Given the description of an element on the screen output the (x, y) to click on. 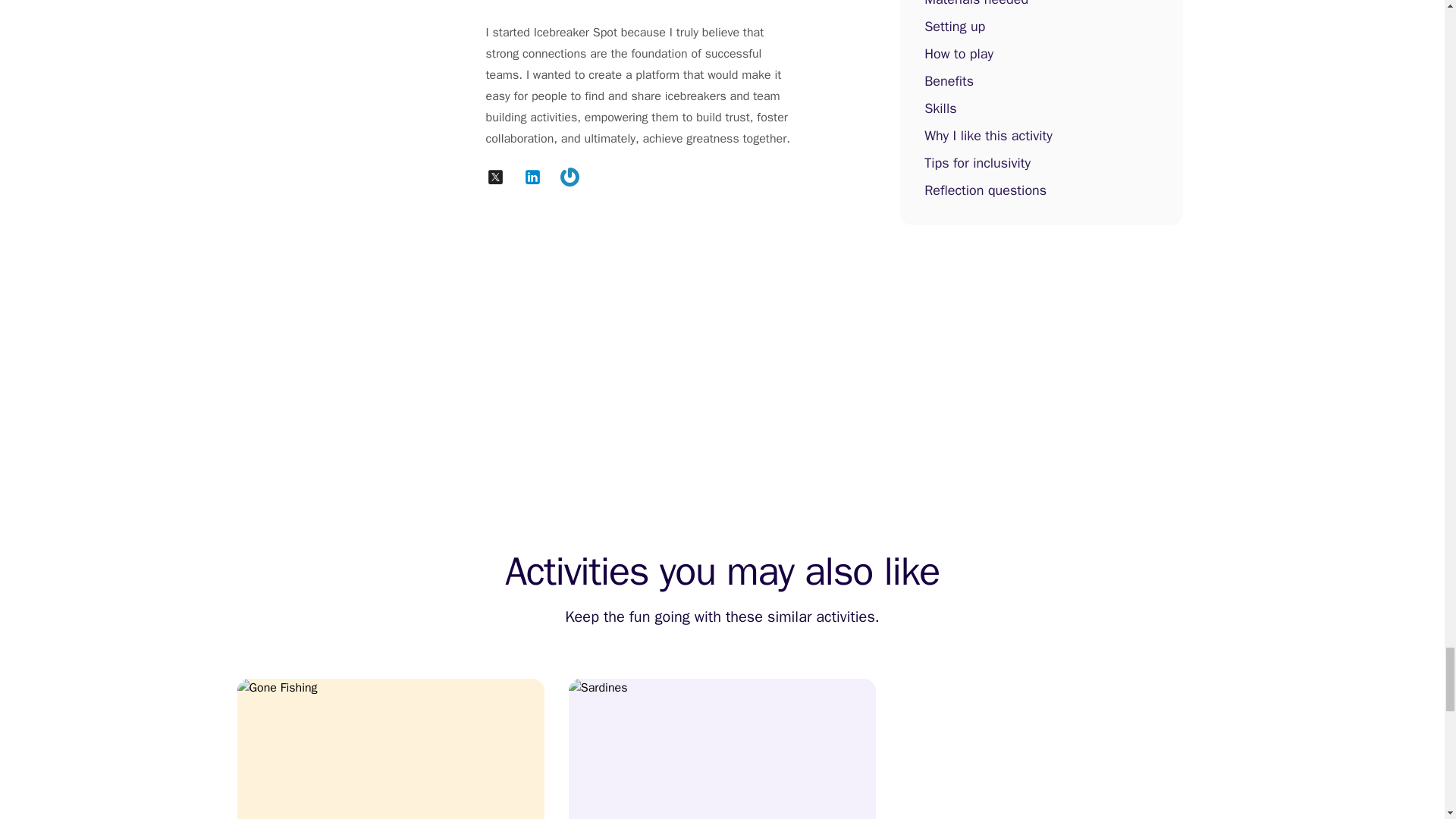
X (493, 176)
LinkedIn (531, 176)
Gravatar (568, 176)
